Given the description of an element on the screen output the (x, y) to click on. 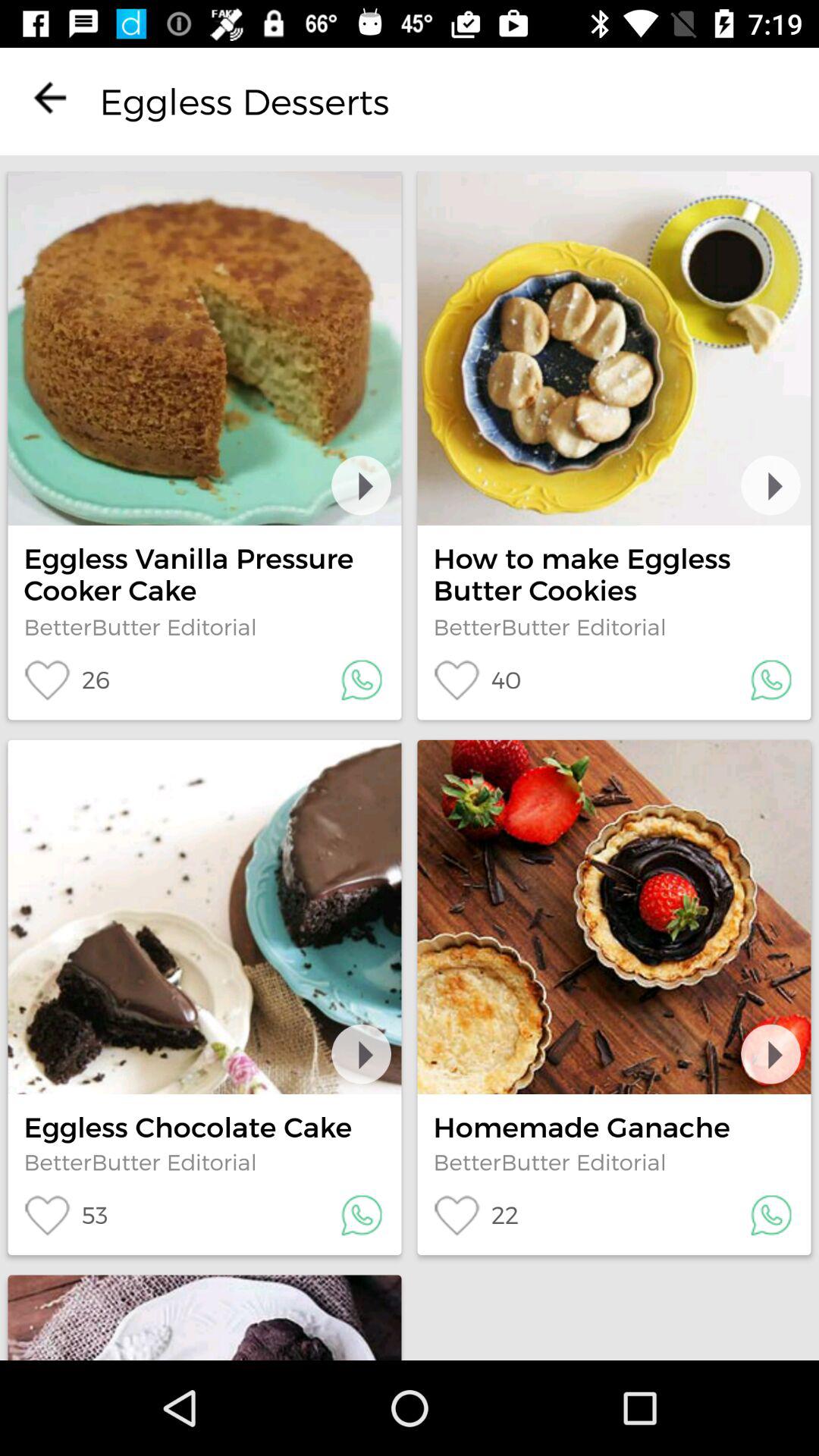
choose the icon below the betterbutter editorial icon (477, 680)
